Given the description of an element on the screen output the (x, y) to click on. 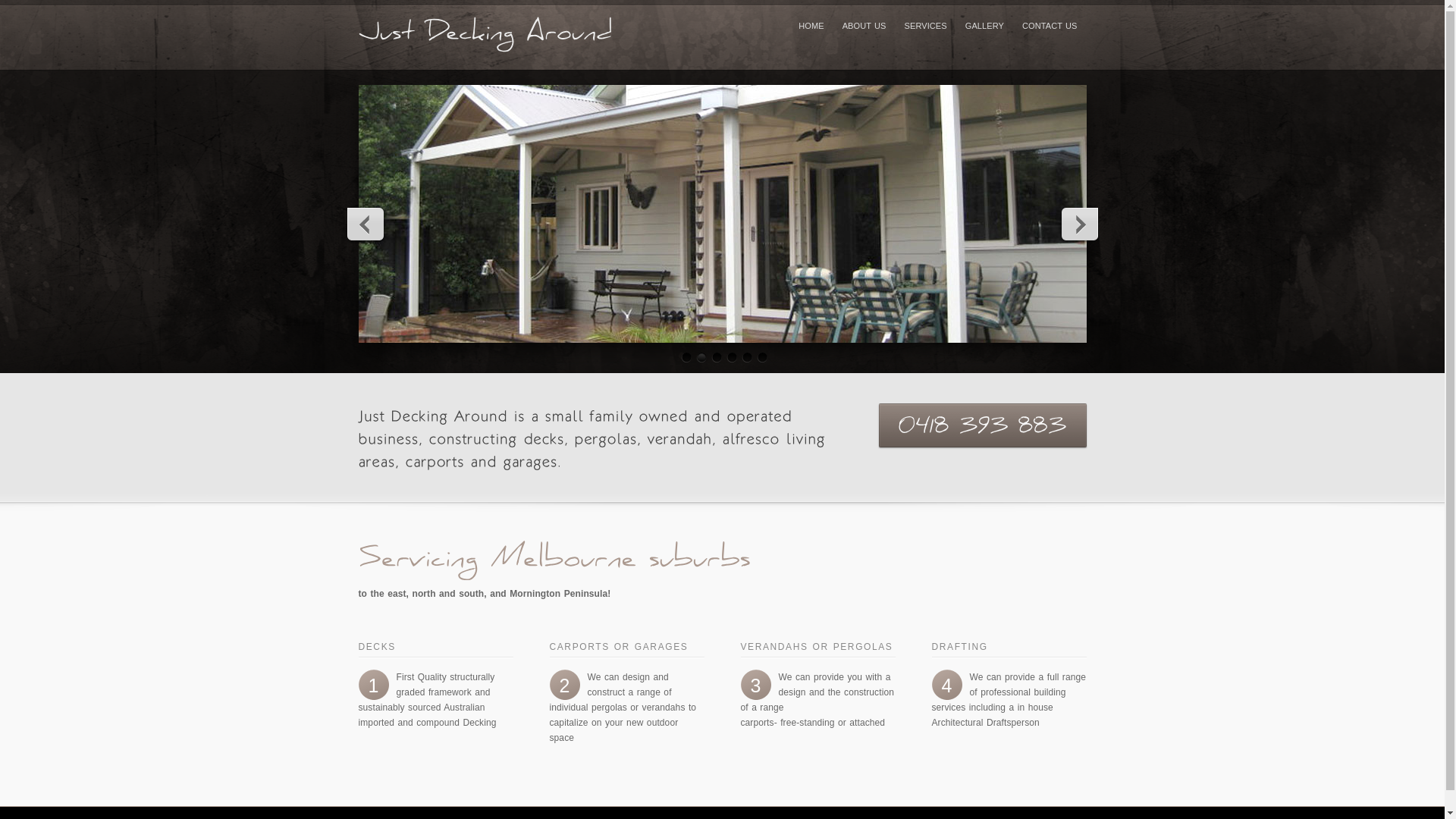
4 Element type: text (729, 357)
2 Element type: text (698, 357)
SERVICES Element type: text (925, 26)
GALLERY Element type: text (984, 26)
6 Element type: text (759, 357)
CONTACT US Element type: text (1049, 26)
3 Element type: text (713, 357)
Next Element type: text (1078, 223)
5 Element type: text (744, 357)
ABOUT US Element type: text (864, 26)
Previous Element type: text (365, 223)
1 Element type: text (683, 357)
HOME Element type: text (810, 26)
